Given the description of an element on the screen output the (x, y) to click on. 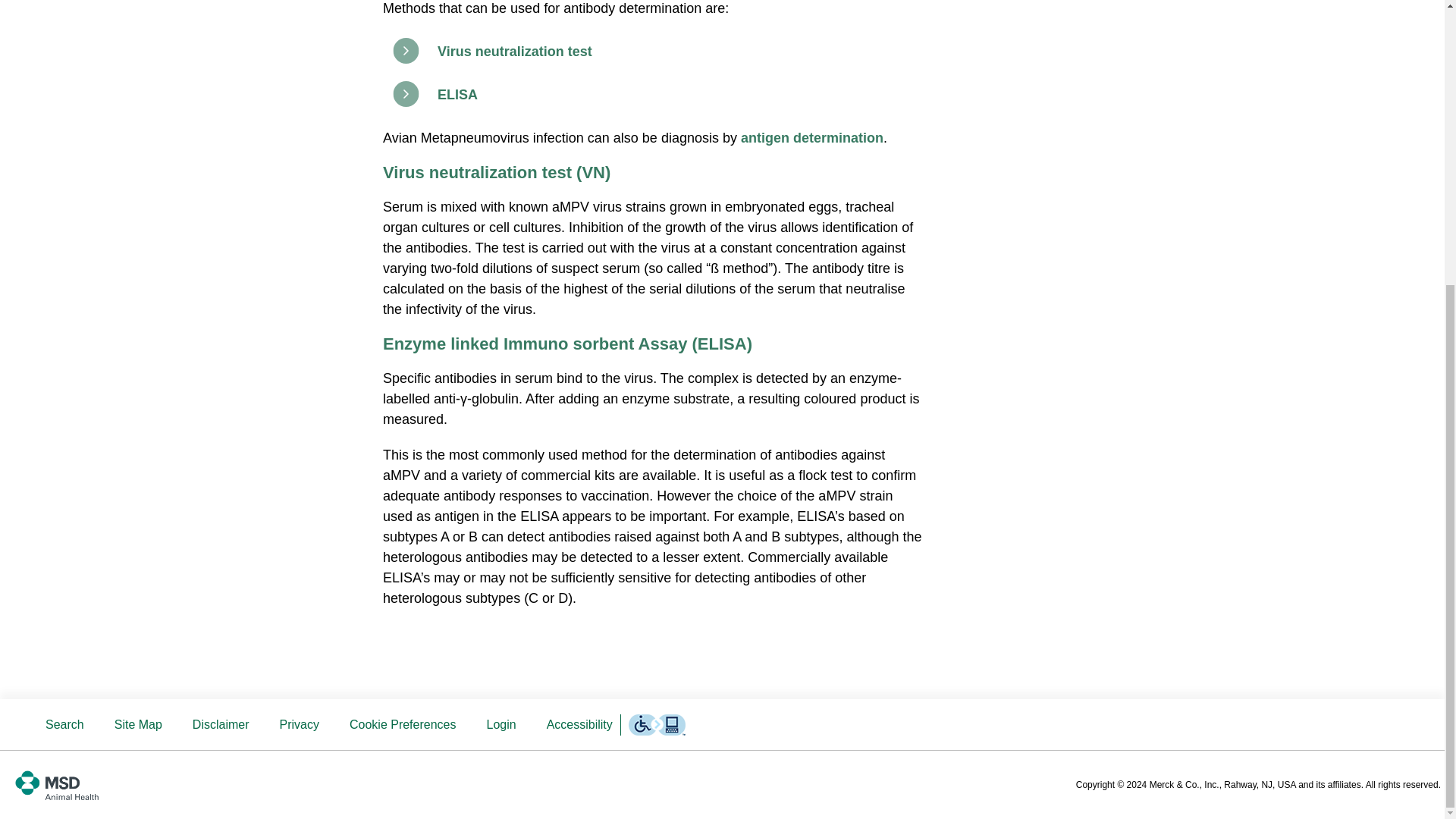
Privacy (299, 724)
Cookie Preferences (402, 724)
Accessibility (579, 724)
ELISA (457, 94)
Search (64, 724)
Site Map (138, 724)
Virus neutralization test (515, 51)
antigen determination (812, 137)
Disclaimer (220, 724)
Login (500, 724)
